Given the description of an element on the screen output the (x, y) to click on. 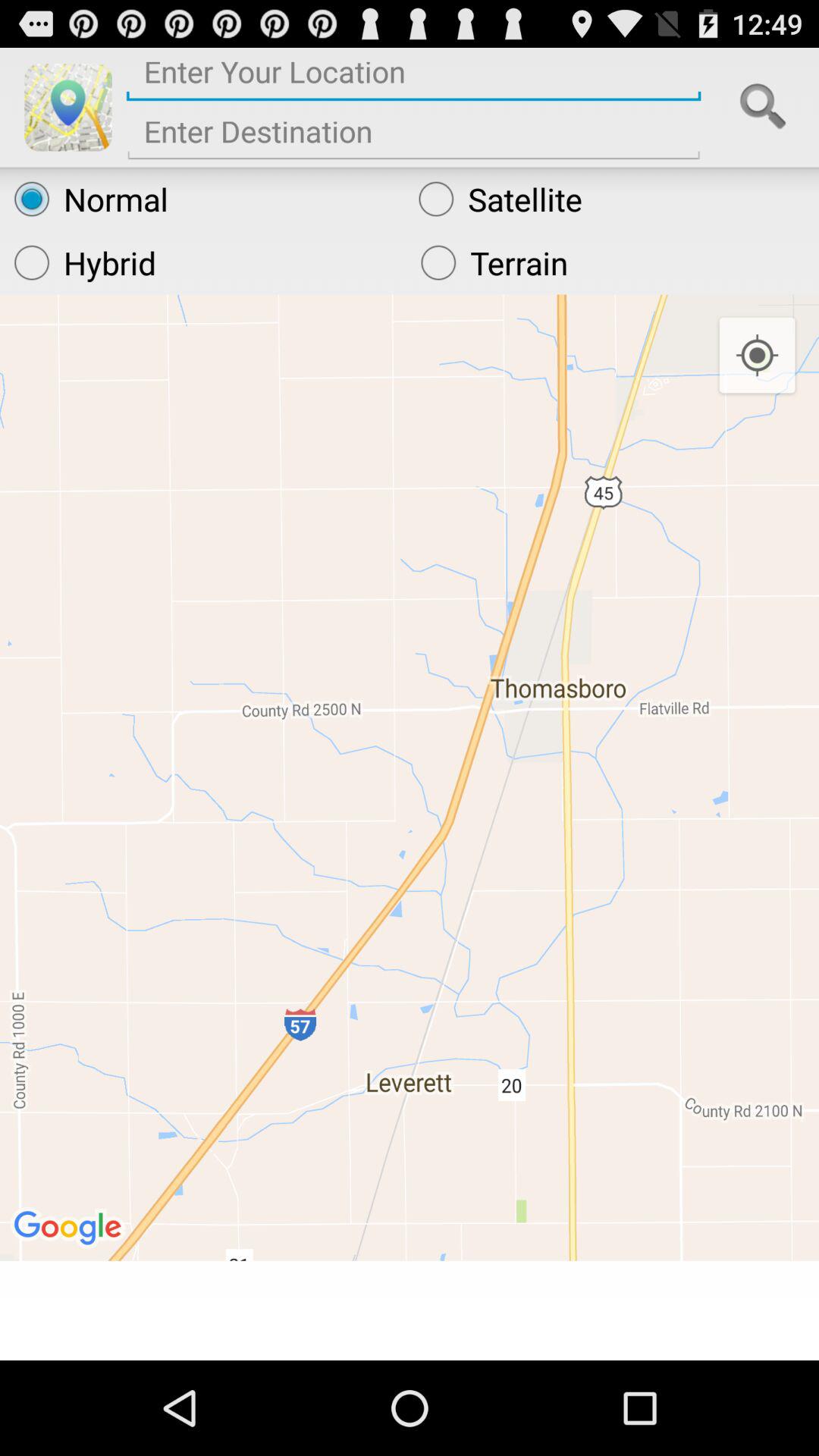
press icon to the left of satellite radio button (202, 198)
